Given the description of an element on the screen output the (x, y) to click on. 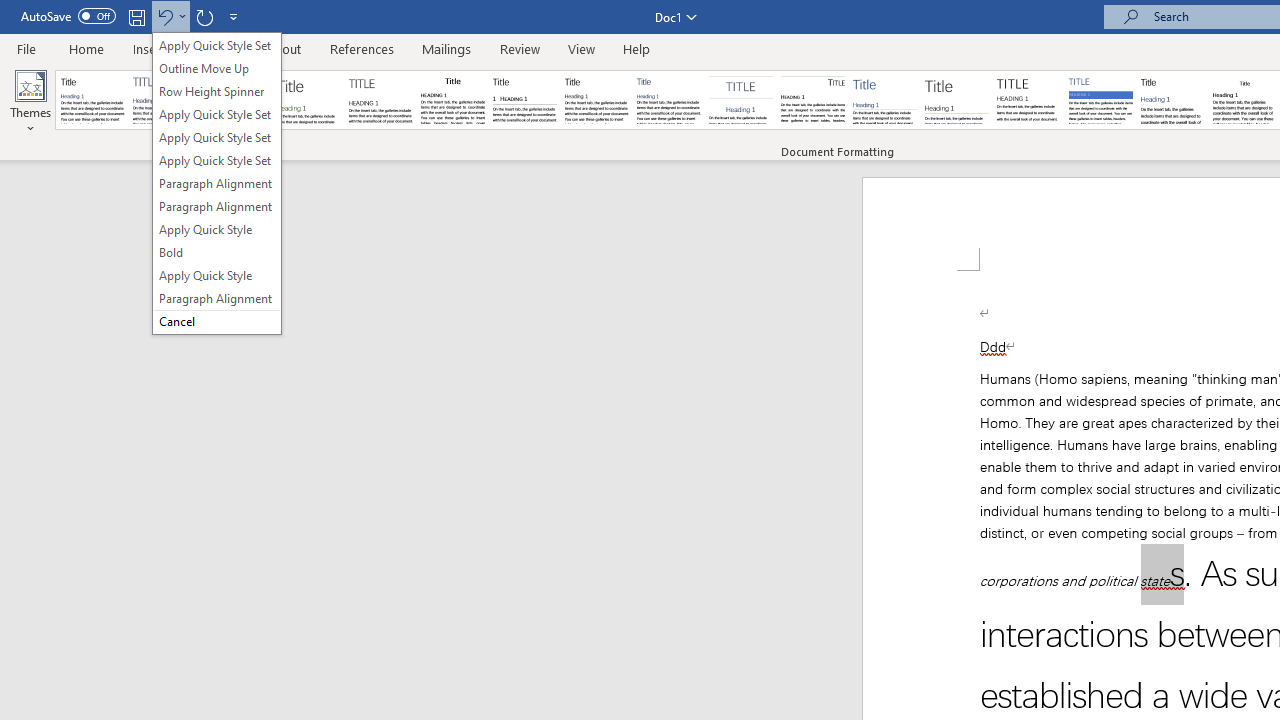
Document (93, 100)
Undo Apply Quick Style Set (164, 15)
&Undo Apply Quick Style Set (216, 182)
Repeat Accessibility Checker (204, 15)
Lines (Simple) (884, 100)
Undo Apply Quick Style Set (170, 15)
Black & White (Numbered) (524, 100)
